Given the description of an element on the screen output the (x, y) to click on. 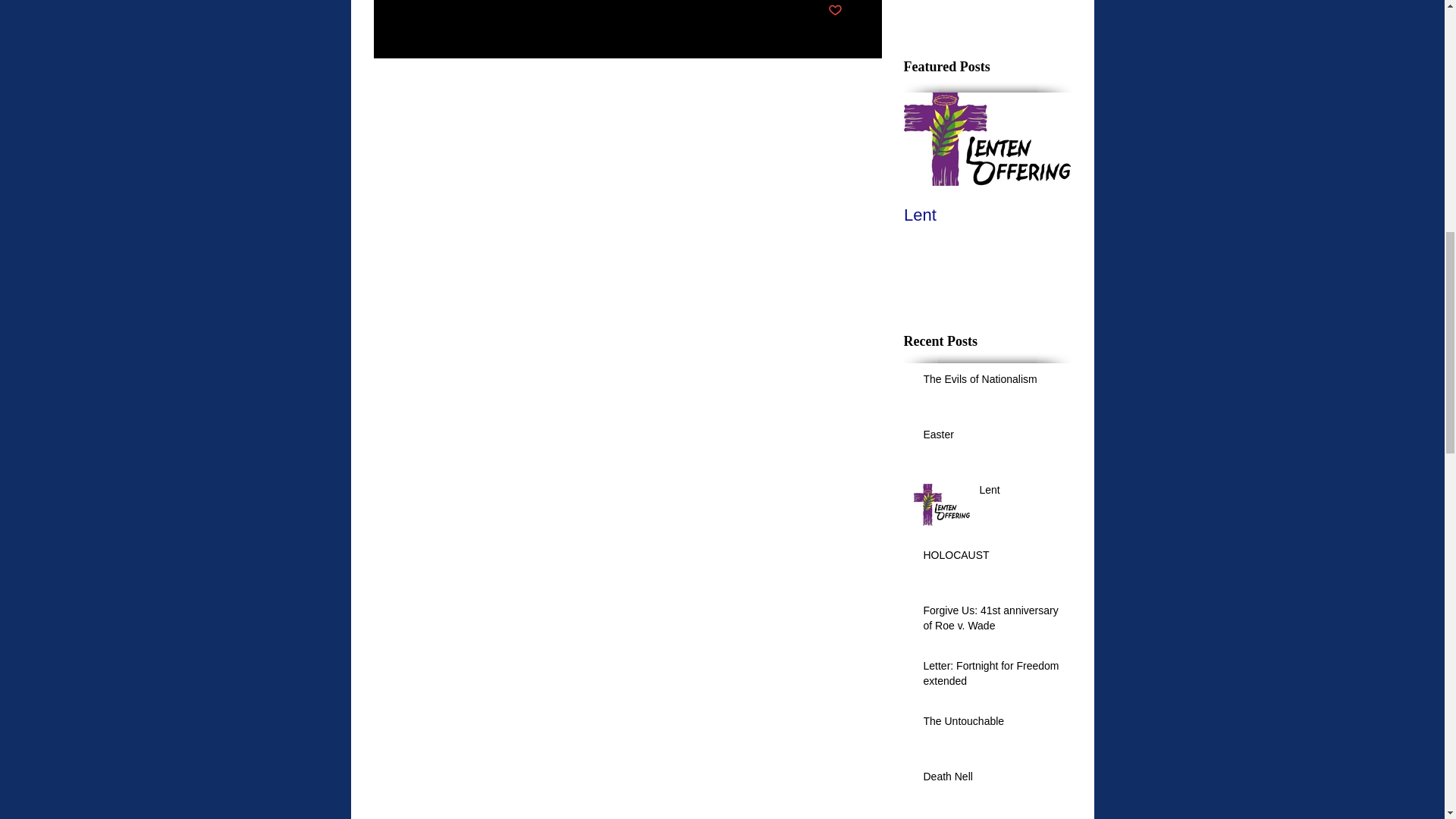
HOLOCAUST (992, 558)
Lent (987, 215)
The Untouchable (992, 724)
Death Nell (992, 780)
Lent (1020, 493)
Forgive Us: 41st anniversary of Roe v. Wade (992, 621)
The Evils of Nationalism (992, 382)
Easter (992, 437)
Letter: Fortnight for Freedom extended (992, 676)
Post not marked as liked (835, 10)
